Given the description of an element on the screen output the (x, y) to click on. 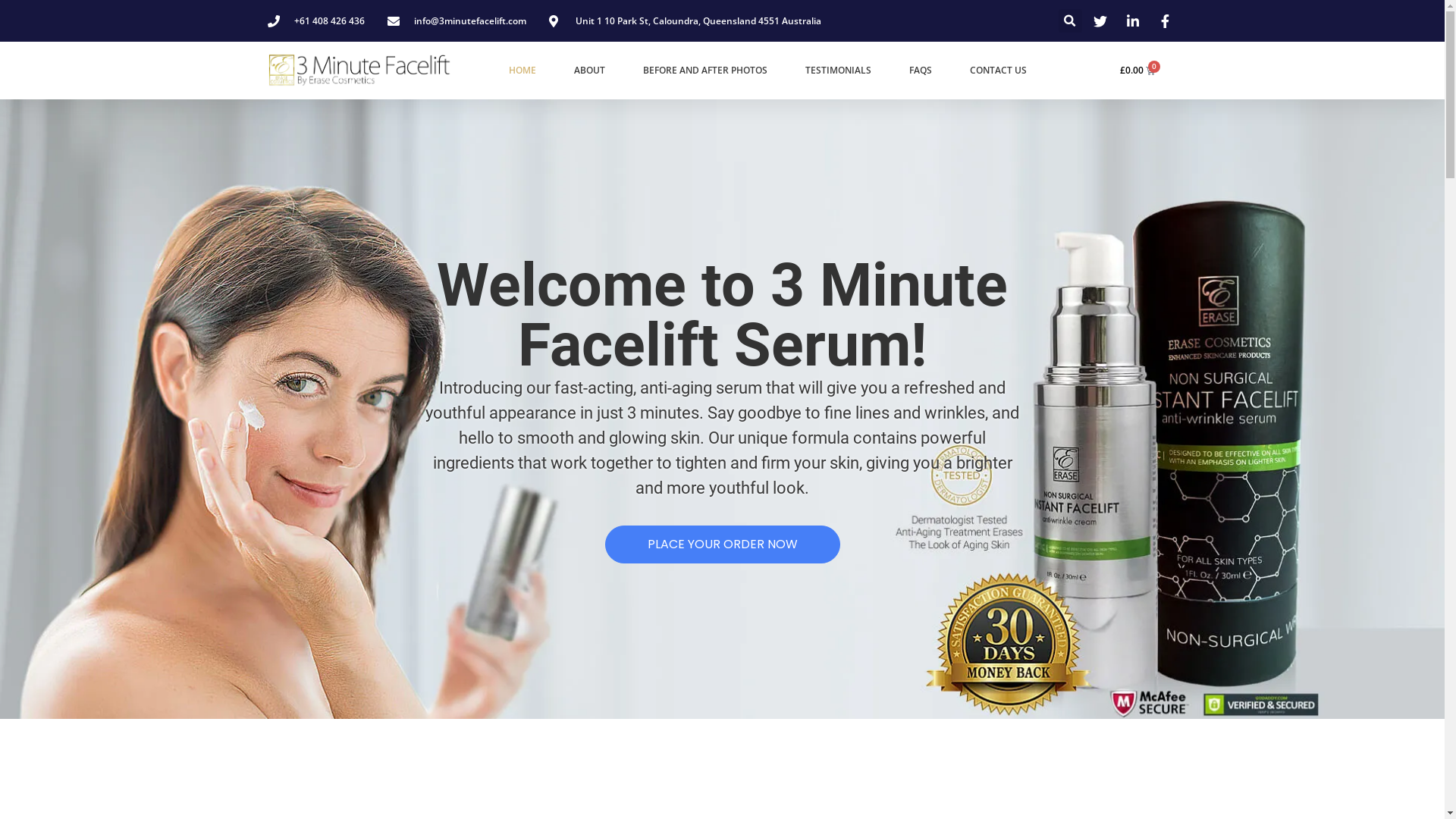
TESTIMONIALS Element type: text (838, 70)
BEFORE AND AFTER PHOTOS Element type: text (705, 70)
HOME Element type: text (522, 70)
PLACE YOUR ORDER NOW Element type: text (722, 543)
info@3minutefacelift.com Element type: text (455, 20)
+61 408 426 436 Element type: text (315, 20)
ABOUT Element type: text (589, 70)
CONTACT US Element type: text (997, 70)
FAQS Element type: text (920, 70)
